Given the description of an element on the screen output the (x, y) to click on. 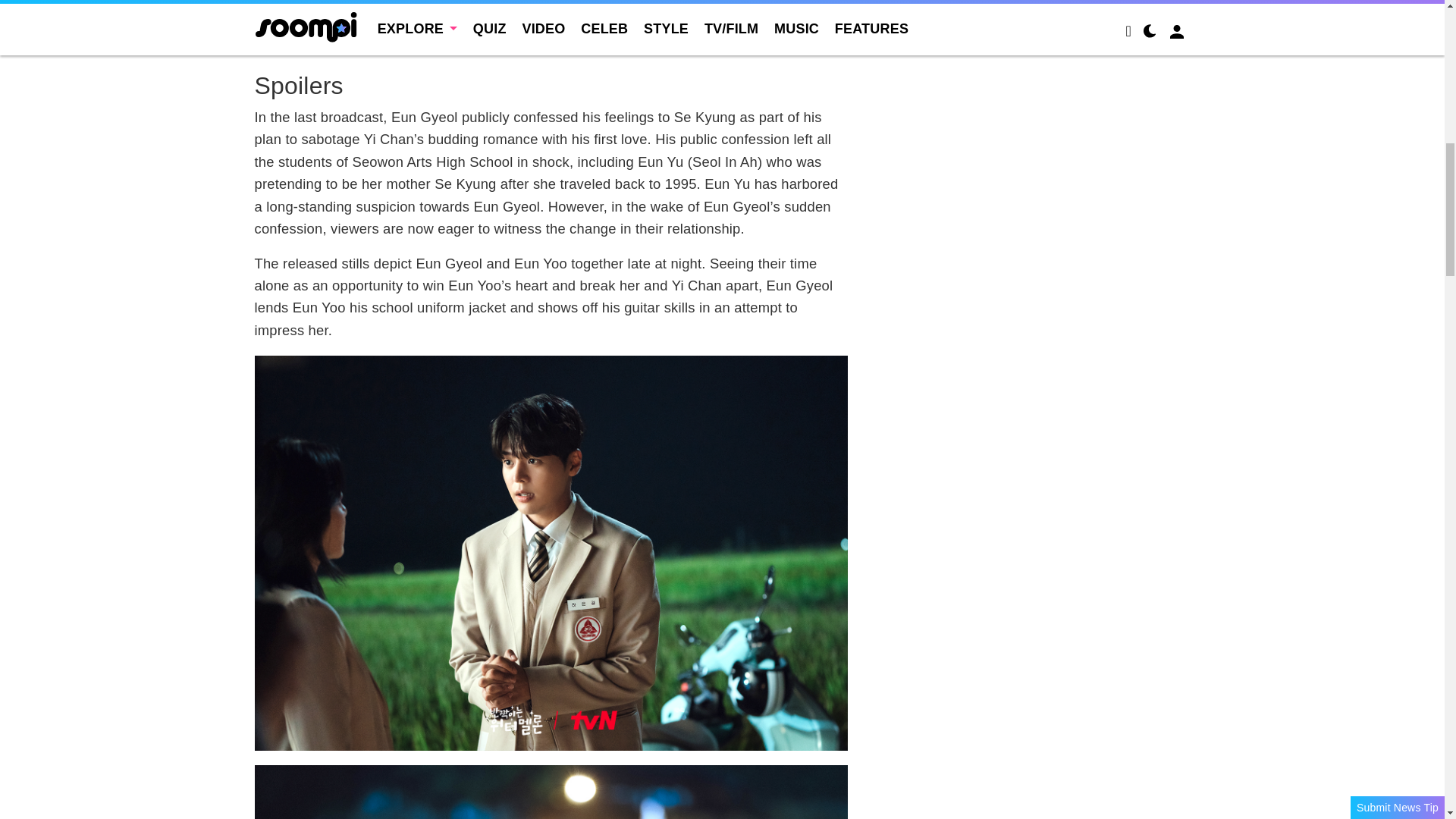
Shin Eun Soo (298, 25)
Seol In Ah (326, 5)
3rd party ad content (1040, 9)
